Given the description of an element on the screen output the (x, y) to click on. 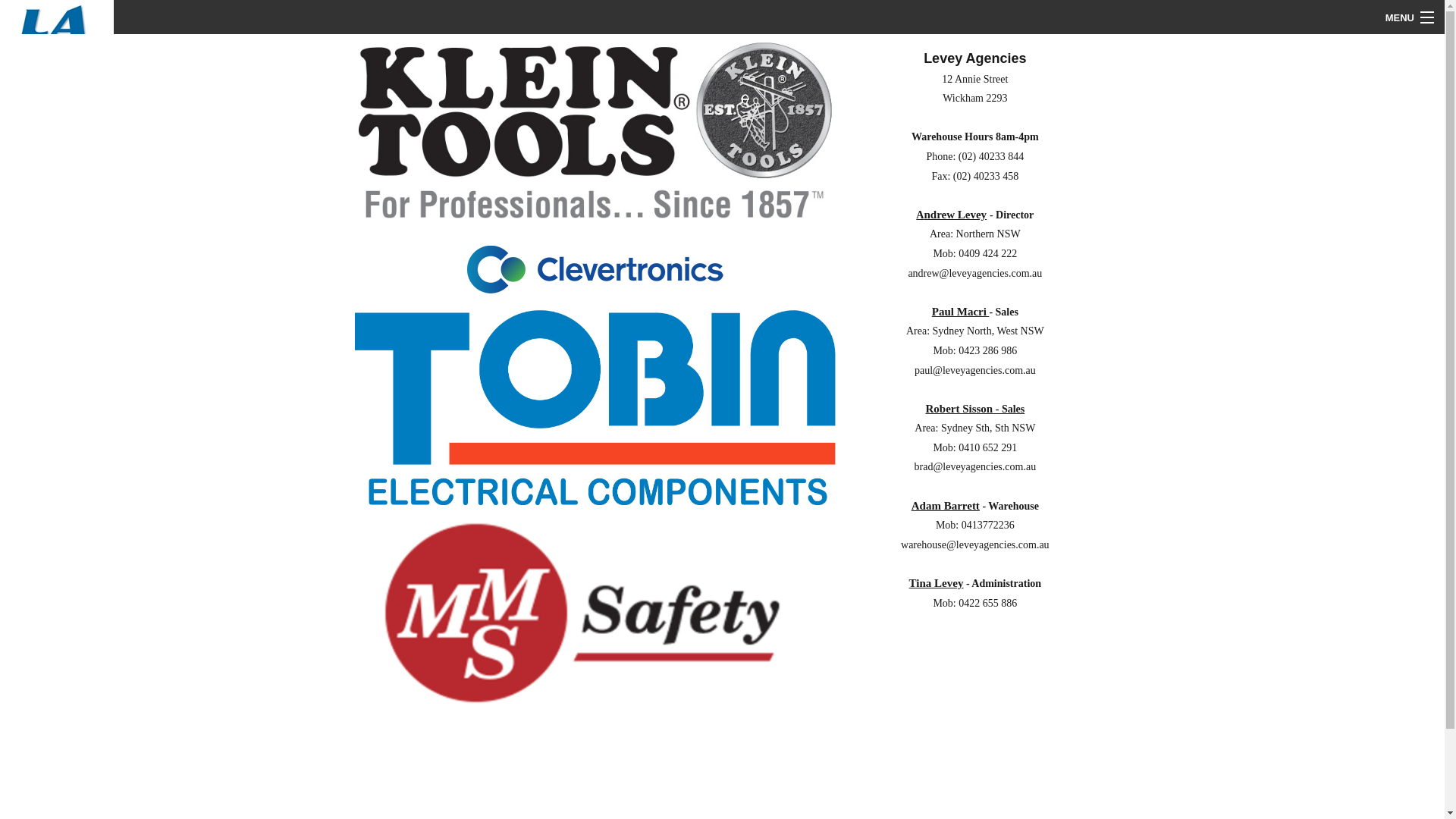
MENU Element type: text (1409, 17)
